Given the description of an element on the screen output the (x, y) to click on. 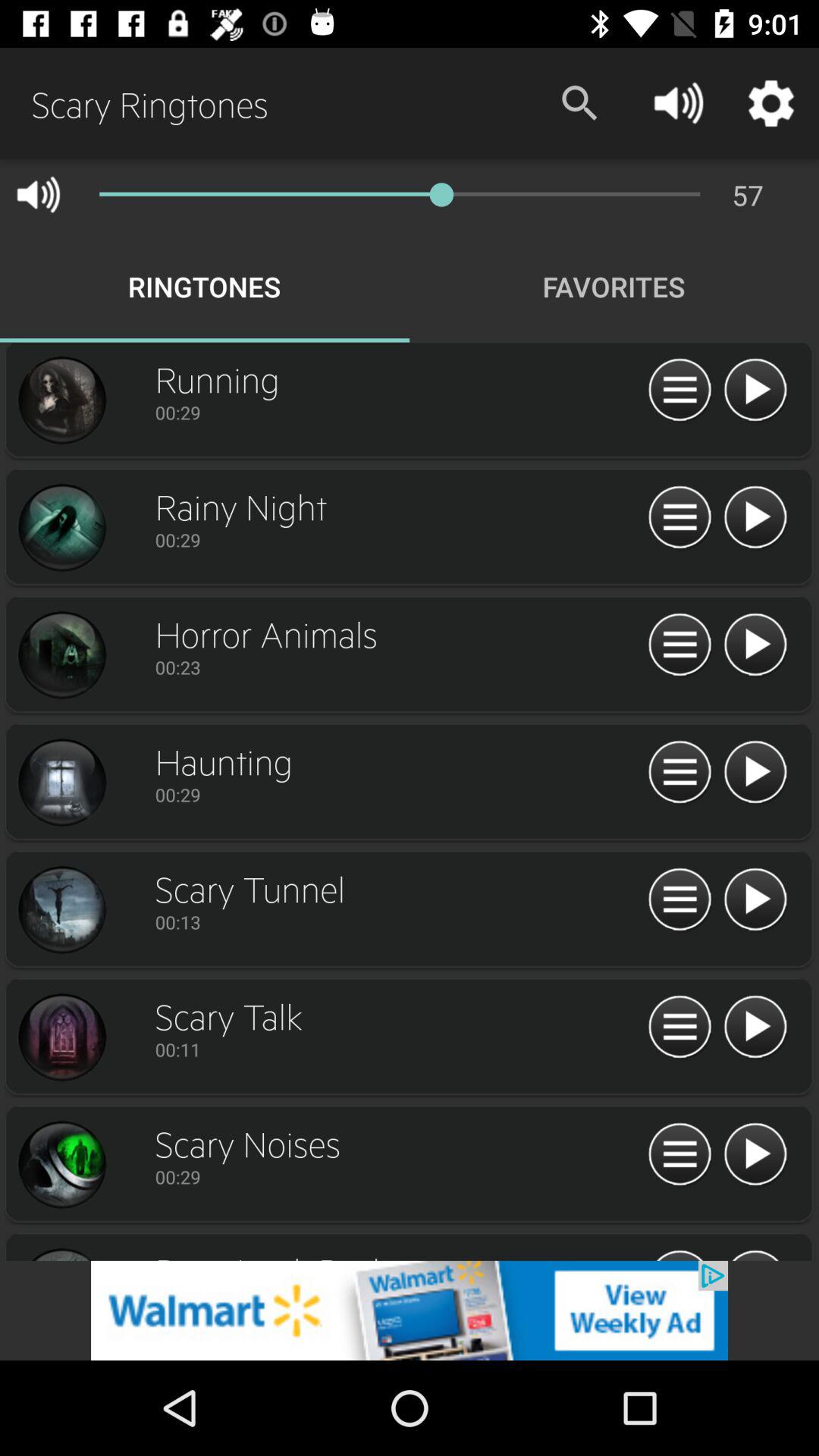
go to all (679, 645)
